Given the description of an element on the screen output the (x, y) to click on. 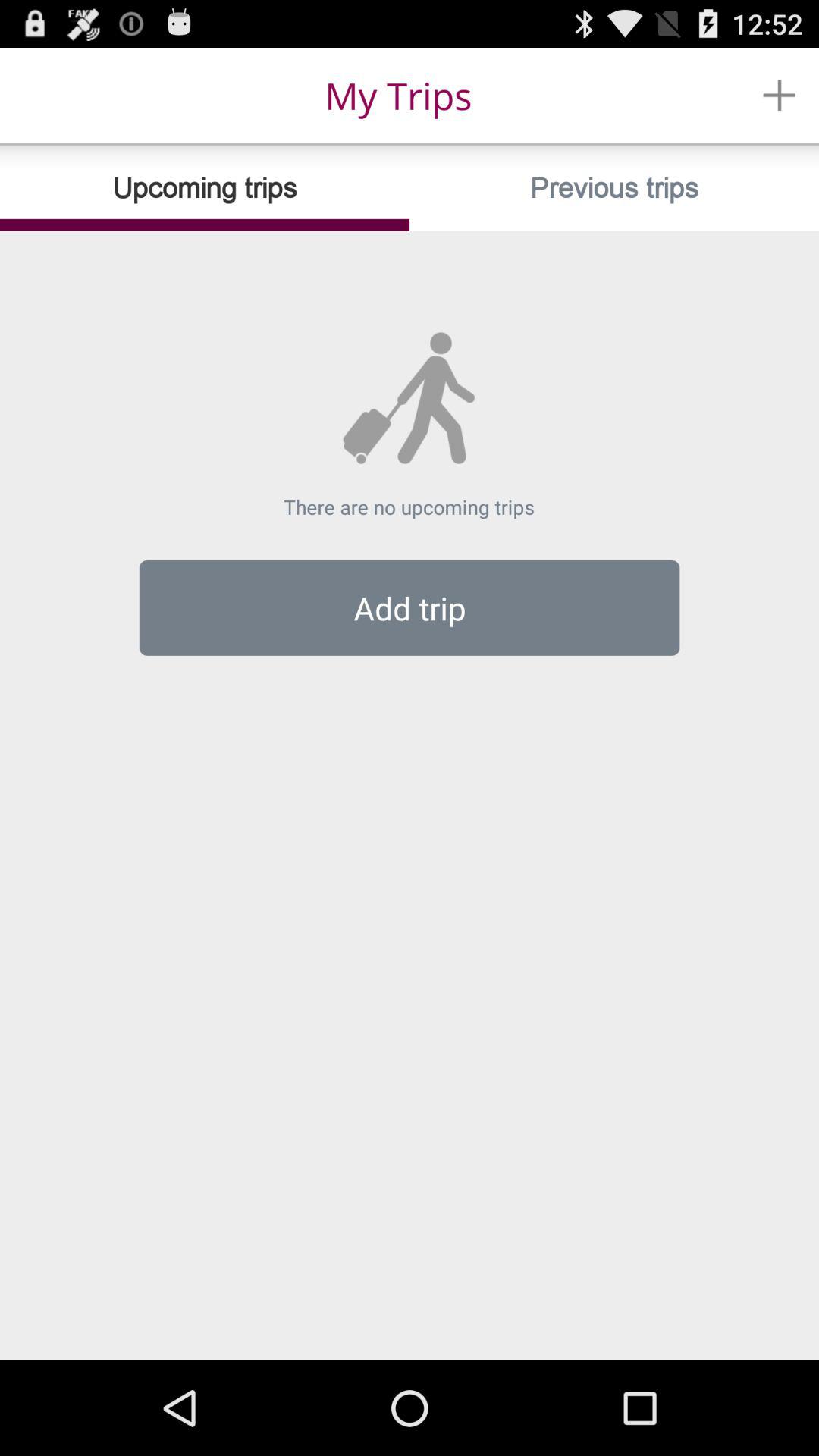
open new page (779, 95)
